Given the description of an element on the screen output the (x, y) to click on. 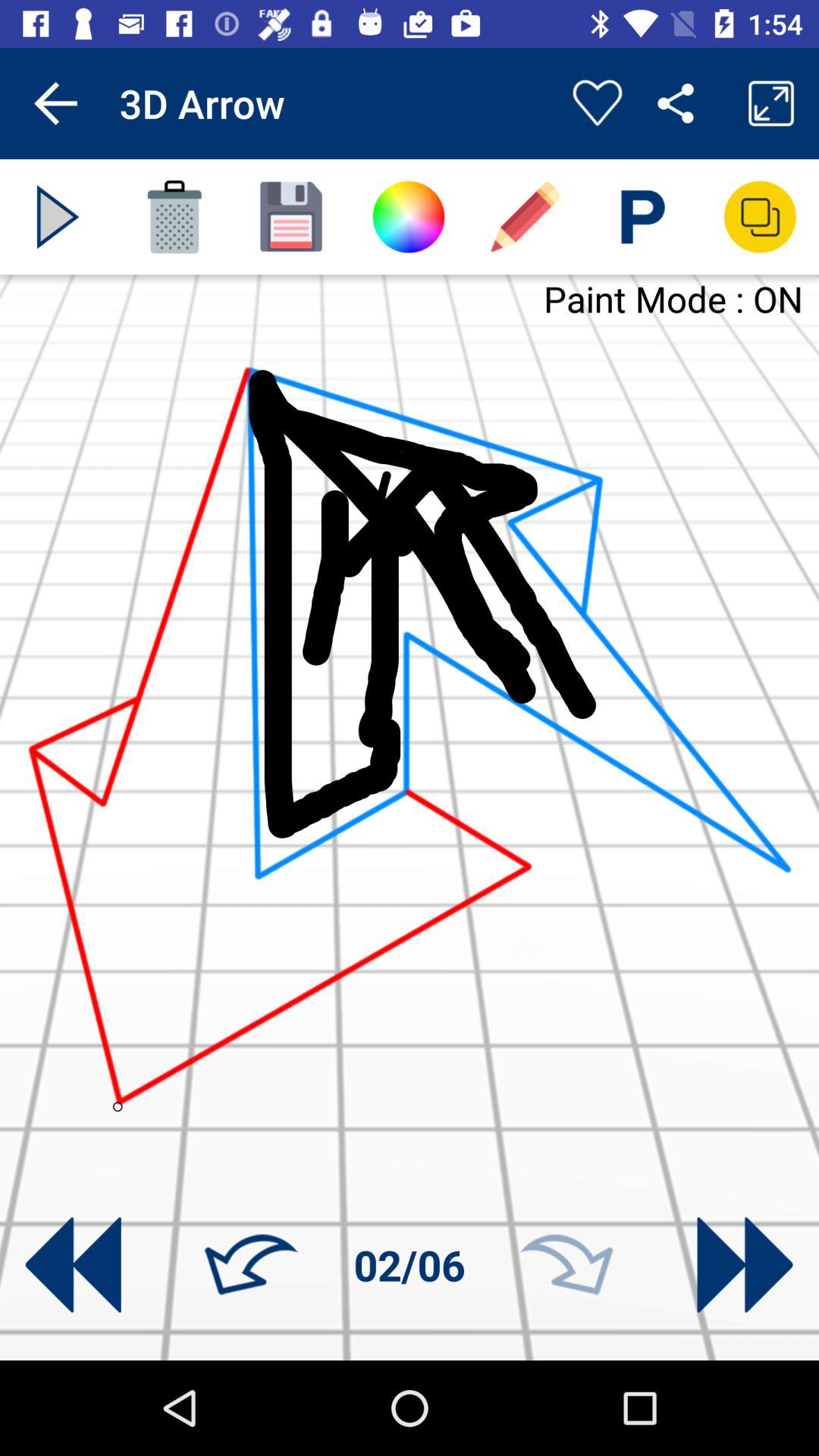
favorite creation (597, 102)
